Given the description of an element on the screen output the (x, y) to click on. 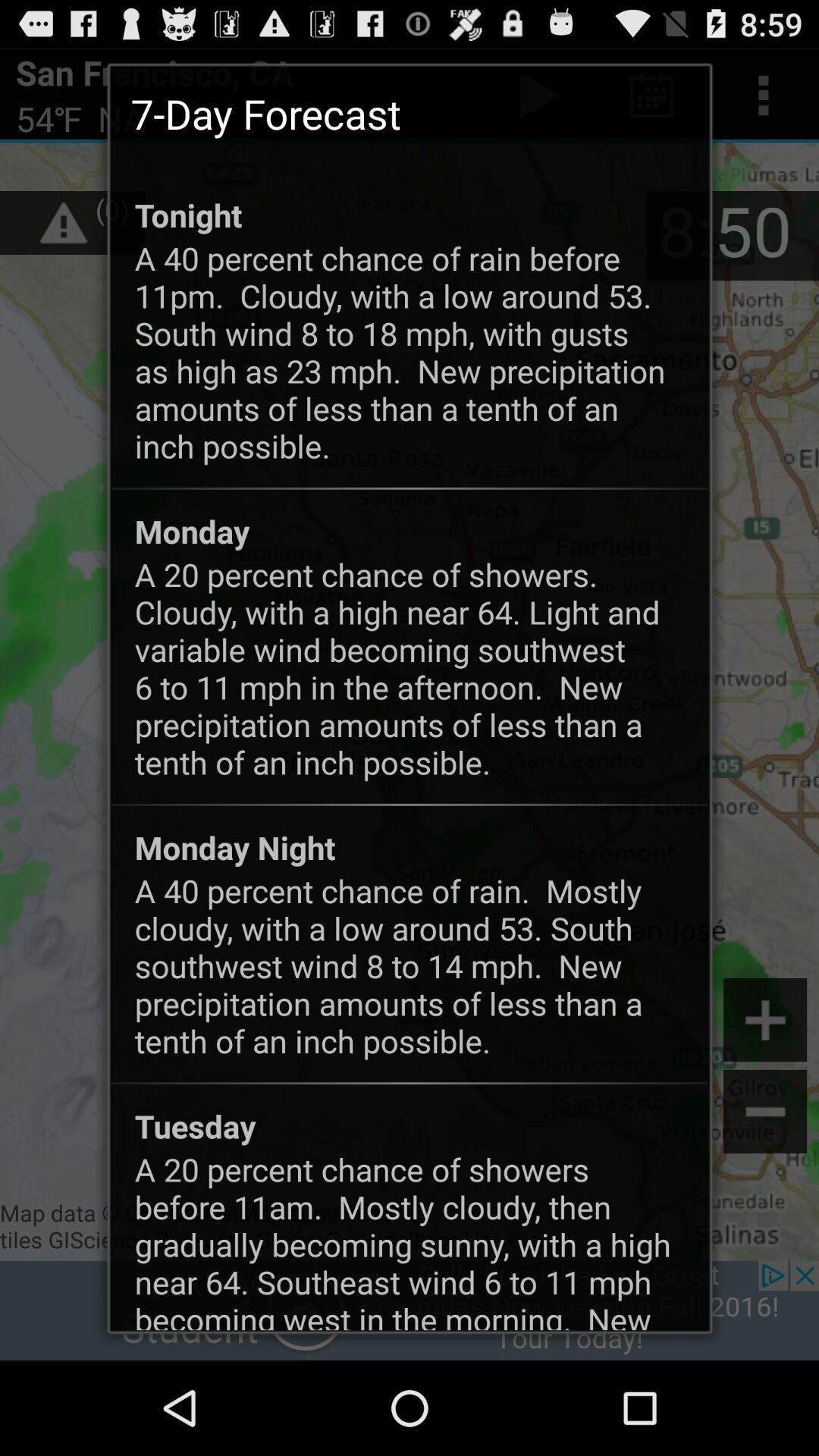
click app at the bottom left corner (194, 1125)
